Given the description of an element on the screen output the (x, y) to click on. 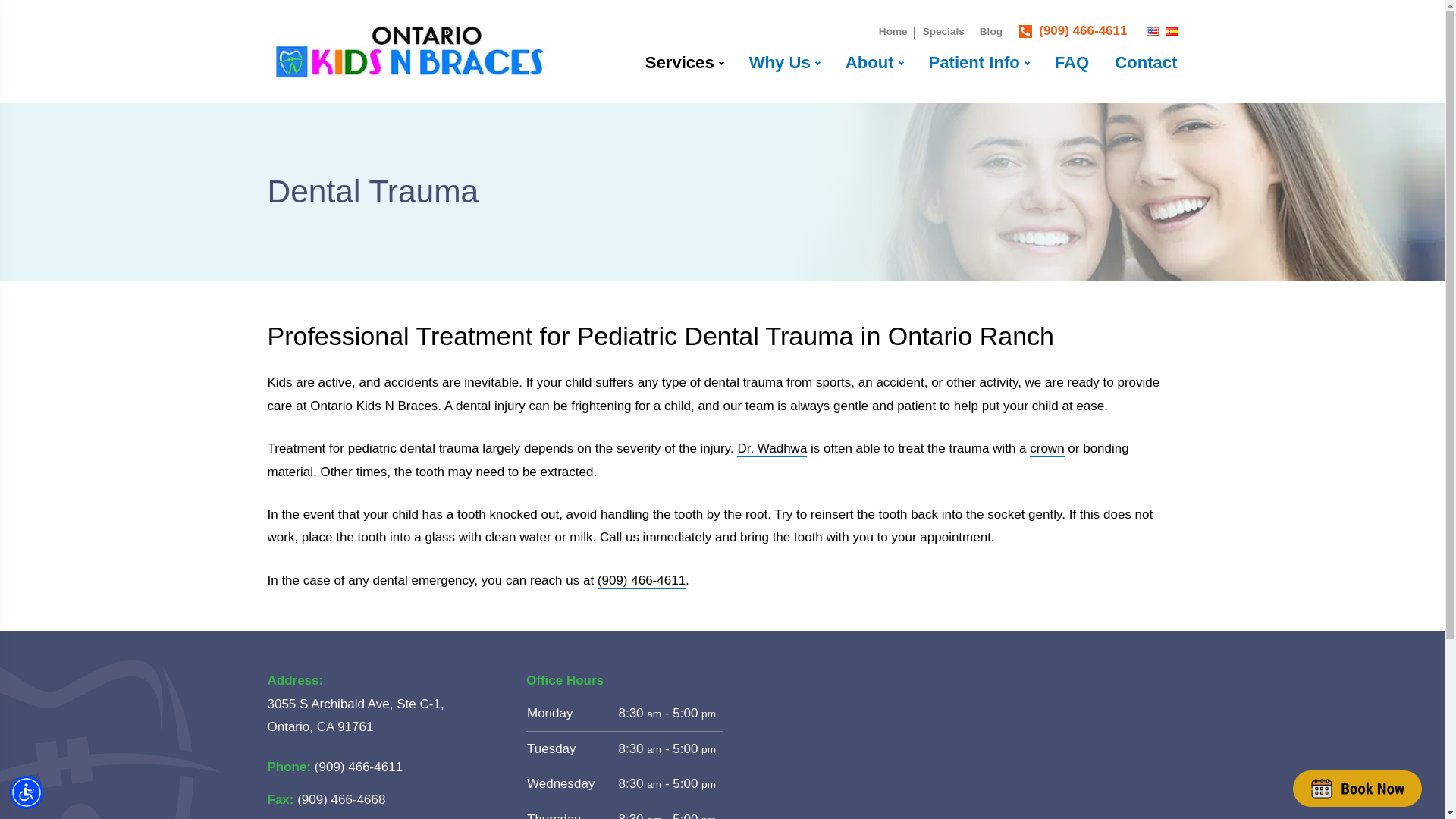
Blog (991, 30)
Home (893, 30)
Accessibility Menu (26, 792)
Schedule appointment (1357, 787)
Specials (943, 30)
